Given the description of an element on the screen output the (x, y) to click on. 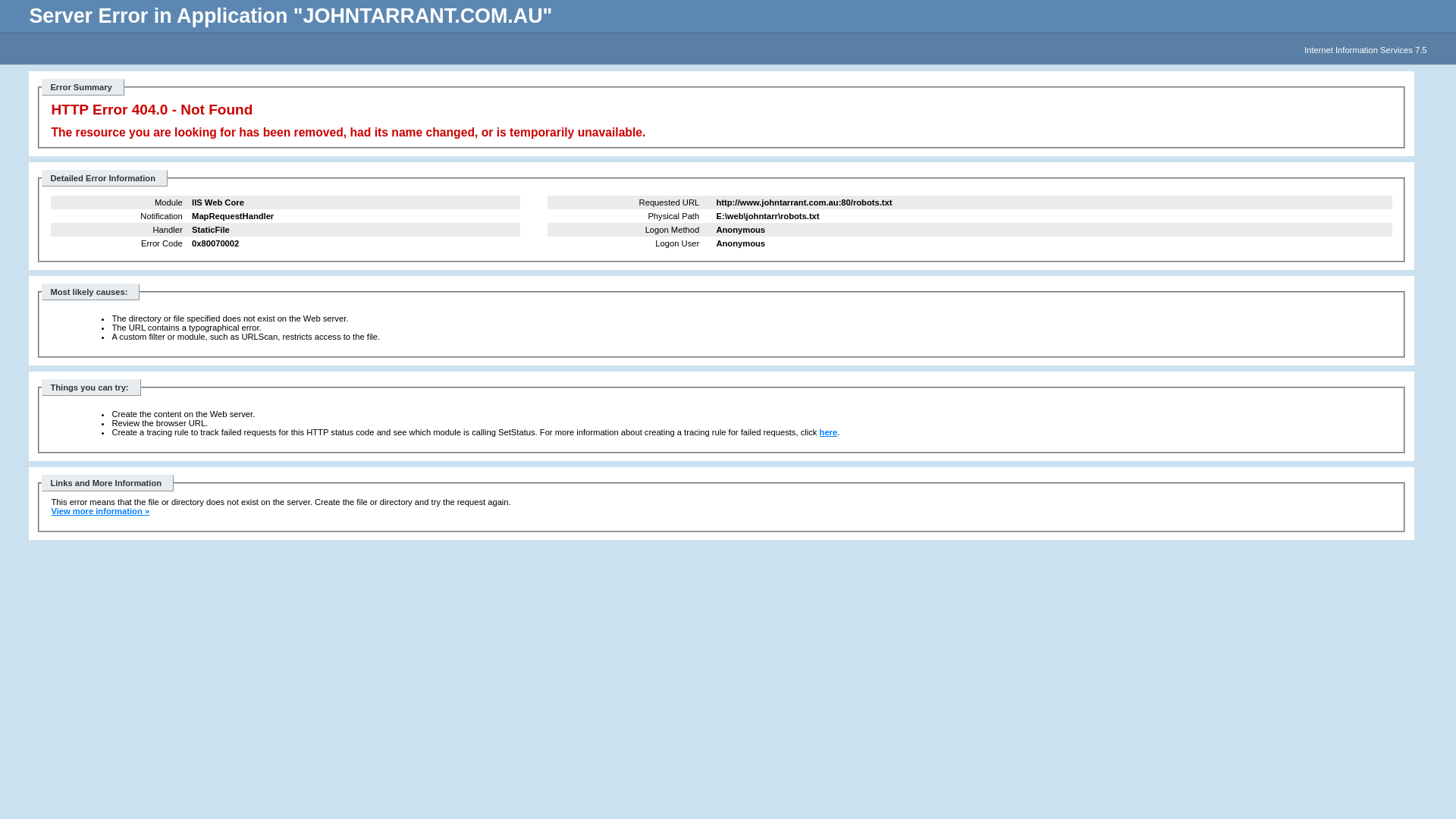
here Element type: text (828, 431)
